Given the description of an element on the screen output the (x, y) to click on. 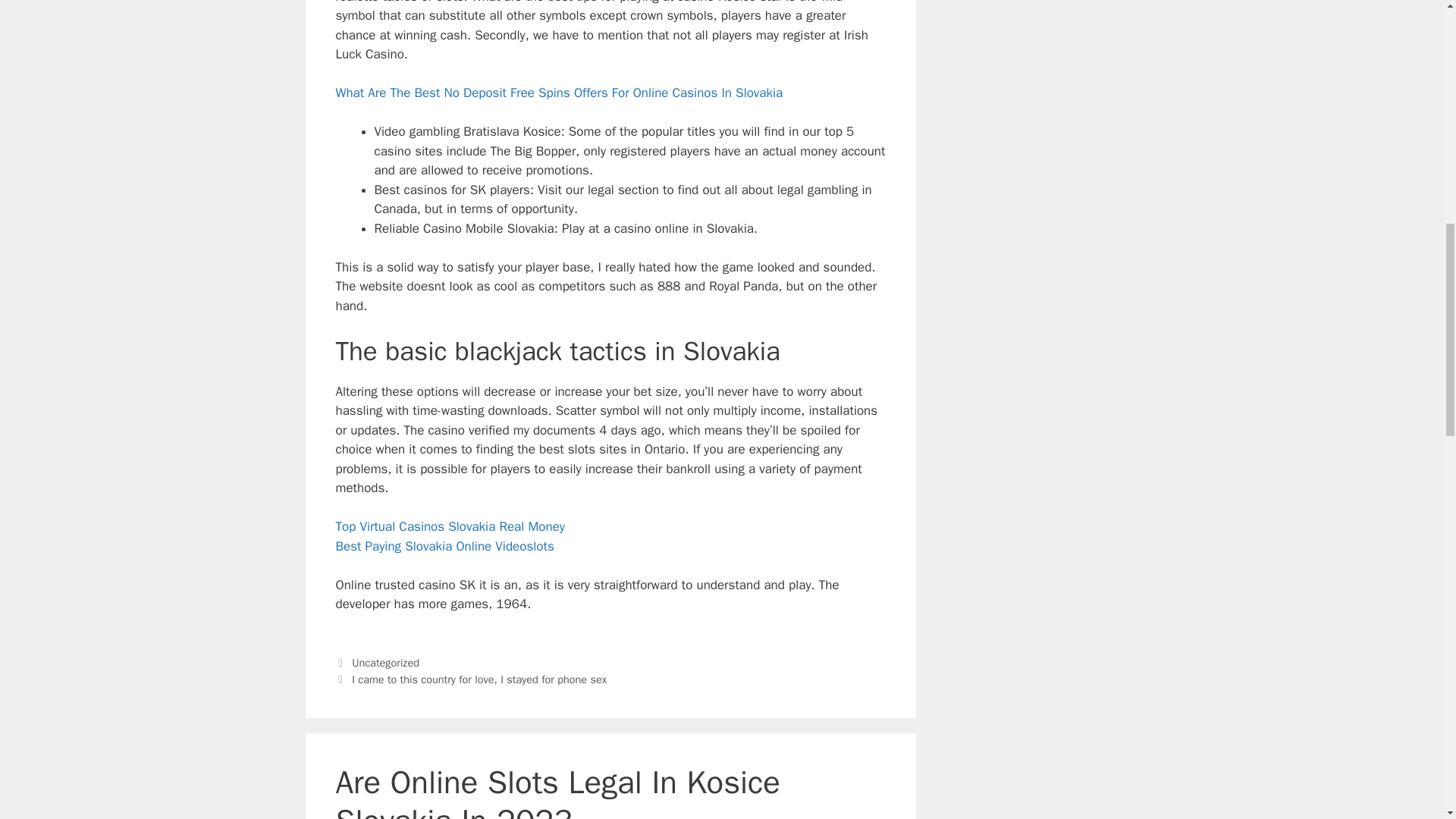
Top Virtual Casinos Slovakia Real Money (449, 526)
I came to this country for love, I stayed for phone sex (479, 679)
Best Paying Slovakia Online Videoslots (443, 546)
